Given the description of an element on the screen output the (x, y) to click on. 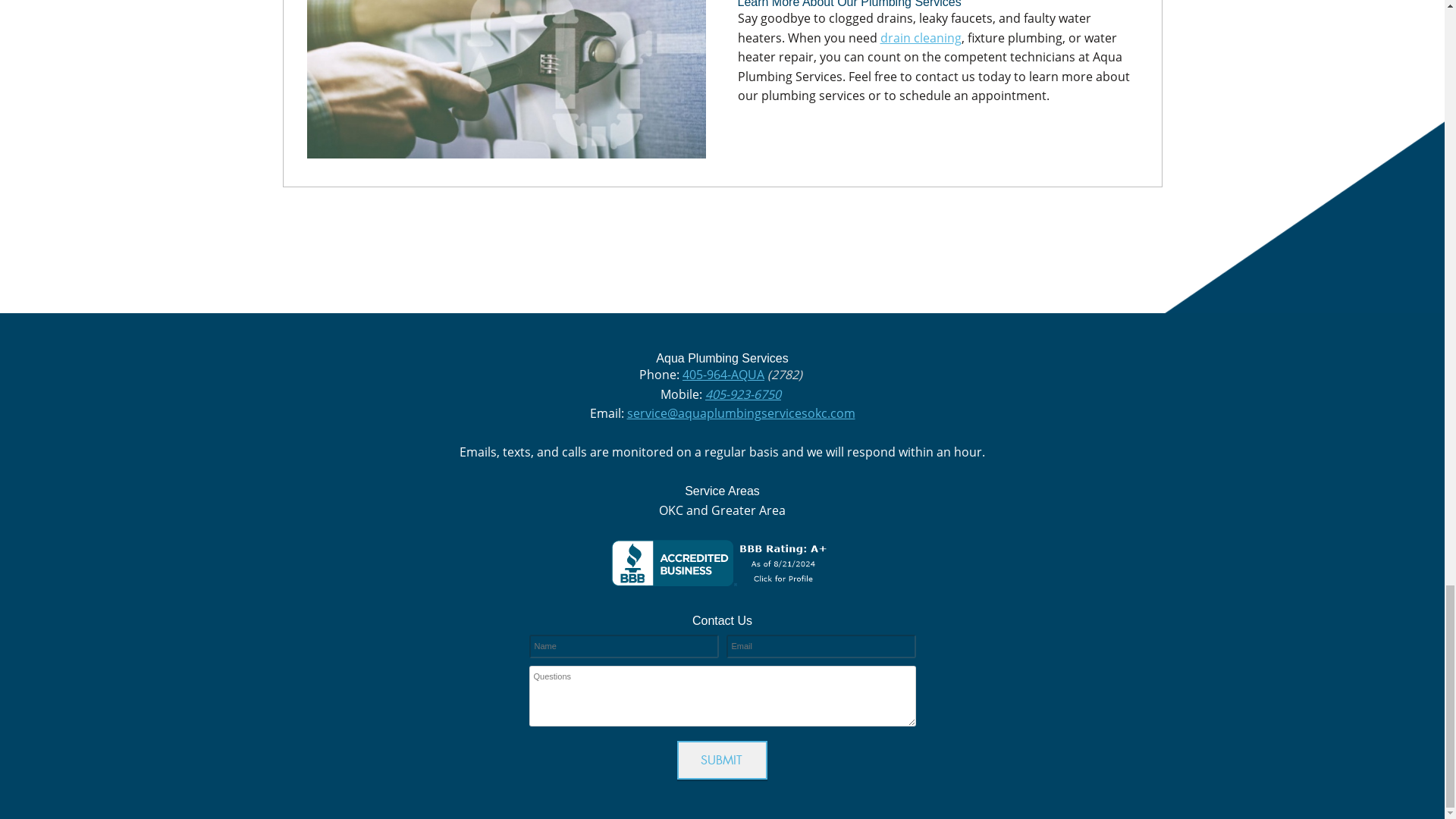
Service Man Hands With Wrench (506, 79)
405-923-6750 (742, 393)
SUBMIT (721, 758)
drain cleaning (919, 37)
405-964-AQUA (723, 374)
